Given the description of an element on the screen output the (x, y) to click on. 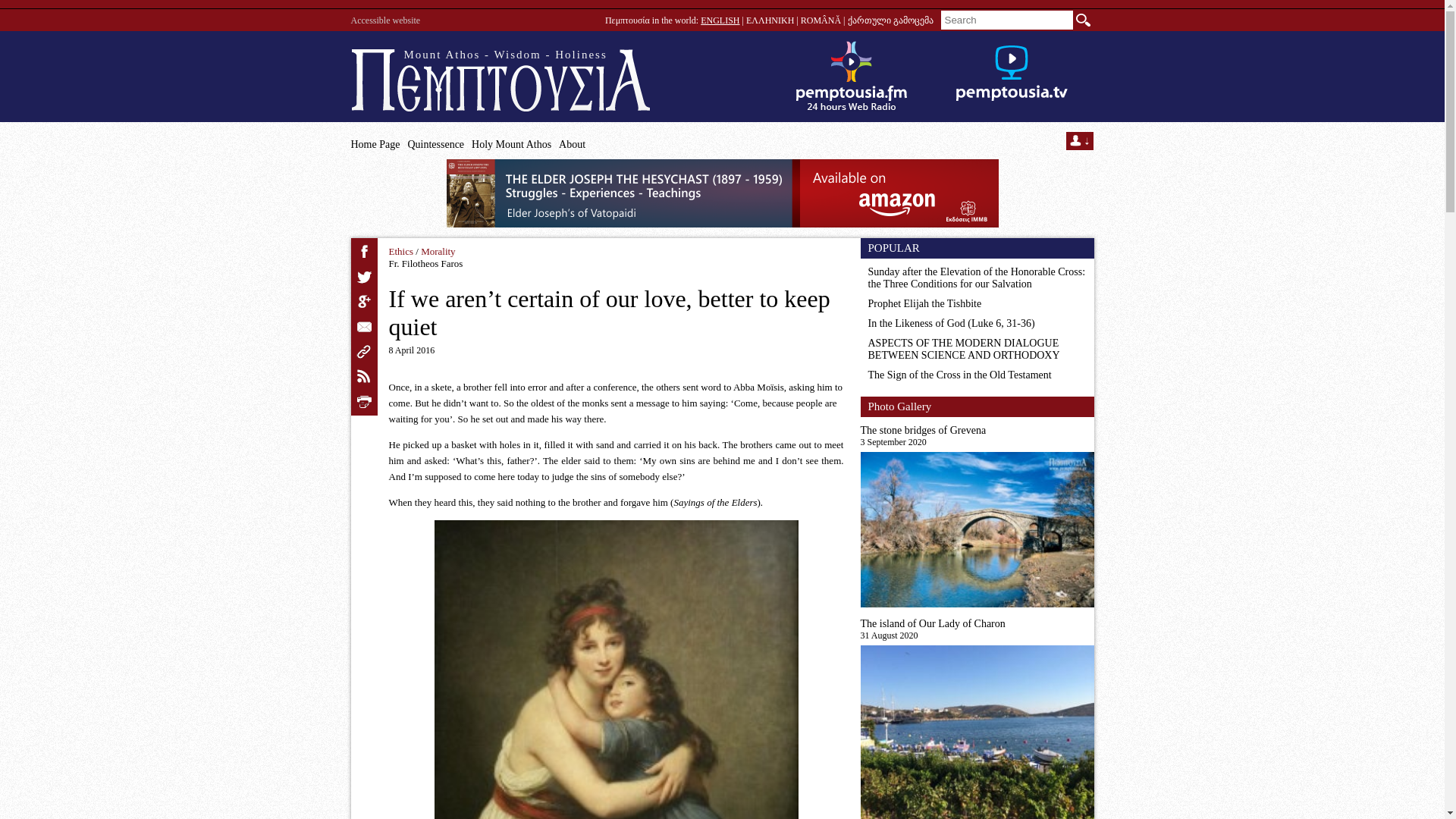
ASPECTS OF THE MODERN DIALOGUE BETWEEN SCIENCE AND ORTHODOXY (963, 349)
Ethics (400, 251)
Accessible website (385, 20)
Mount Athos - Wisdom - Holiness (499, 80)
ENGLISH (719, 20)
Send this page to Facebook (364, 251)
Holy Mount Athos (511, 143)
The stone bridges of Grevena (976, 430)
Home Page (374, 143)
